Given the description of an element on the screen output the (x, y) to click on. 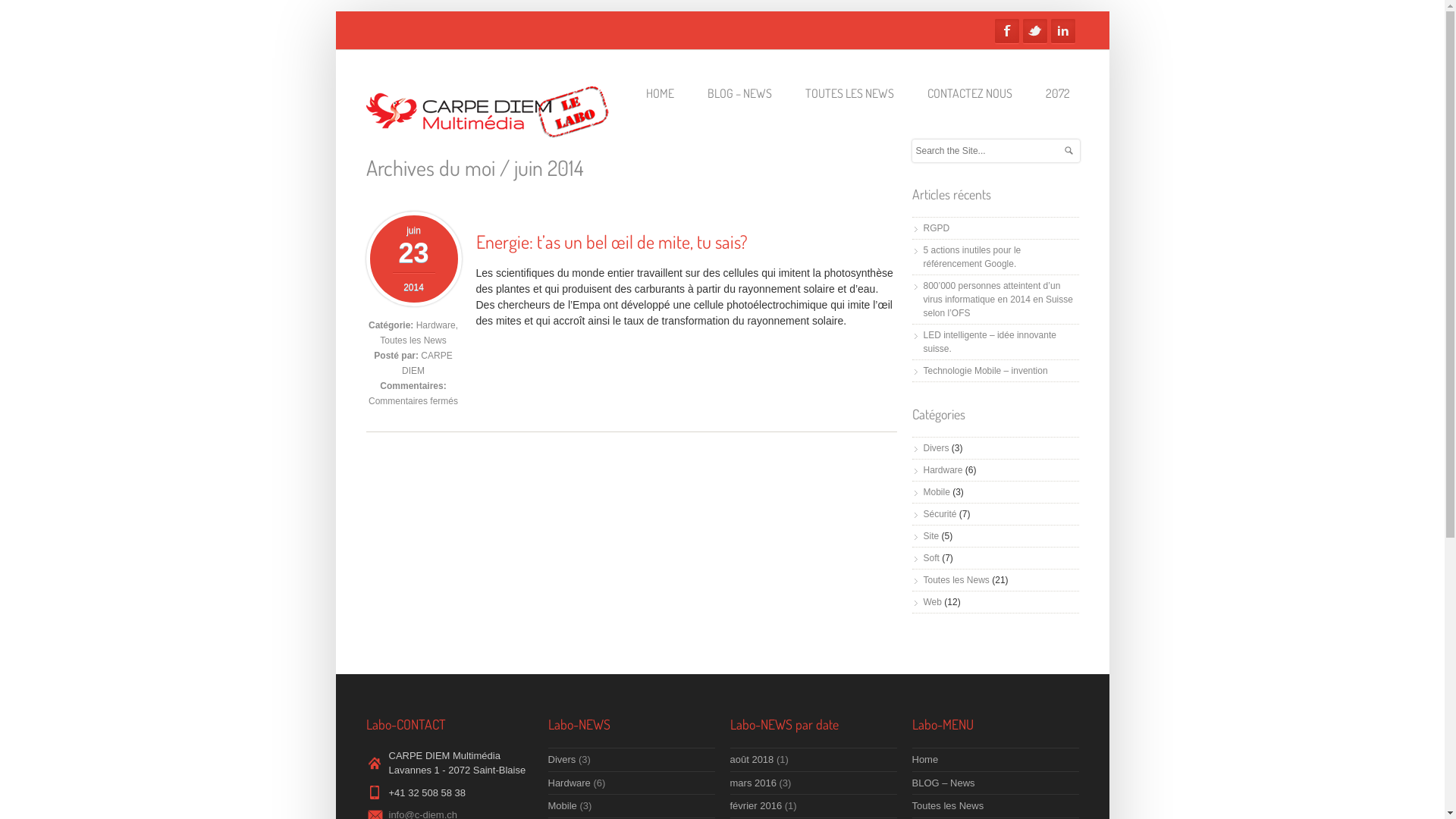
CONTACTEZ NOUS Element type: text (968, 94)
Linkedin Element type: text (1063, 30)
Hardware Element type: text (568, 782)
TOUTES LES NEWS Element type: text (849, 94)
Site Element type: text (931, 535)
Toutes les News Element type: text (412, 340)
Web Element type: text (932, 601)
Divers Element type: text (936, 447)
Home Element type: text (924, 759)
Twitter Element type: text (1034, 30)
RGPD Element type: text (936, 227)
Toutes les News Element type: text (956, 579)
Facebook Element type: text (1006, 30)
Mobile Element type: text (936, 491)
2072 Element type: text (1056, 94)
Hardware Element type: text (435, 325)
mars 2016 Element type: text (752, 782)
Divers Element type: text (561, 759)
HOME Element type: text (660, 94)
Toutes les News Element type: text (947, 805)
Hardware Element type: text (943, 469)
CARPE DIEM Element type: text (426, 363)
Mobile Element type: text (561, 805)
Soft Element type: text (931, 557)
